Given the description of an element on the screen output the (x, y) to click on. 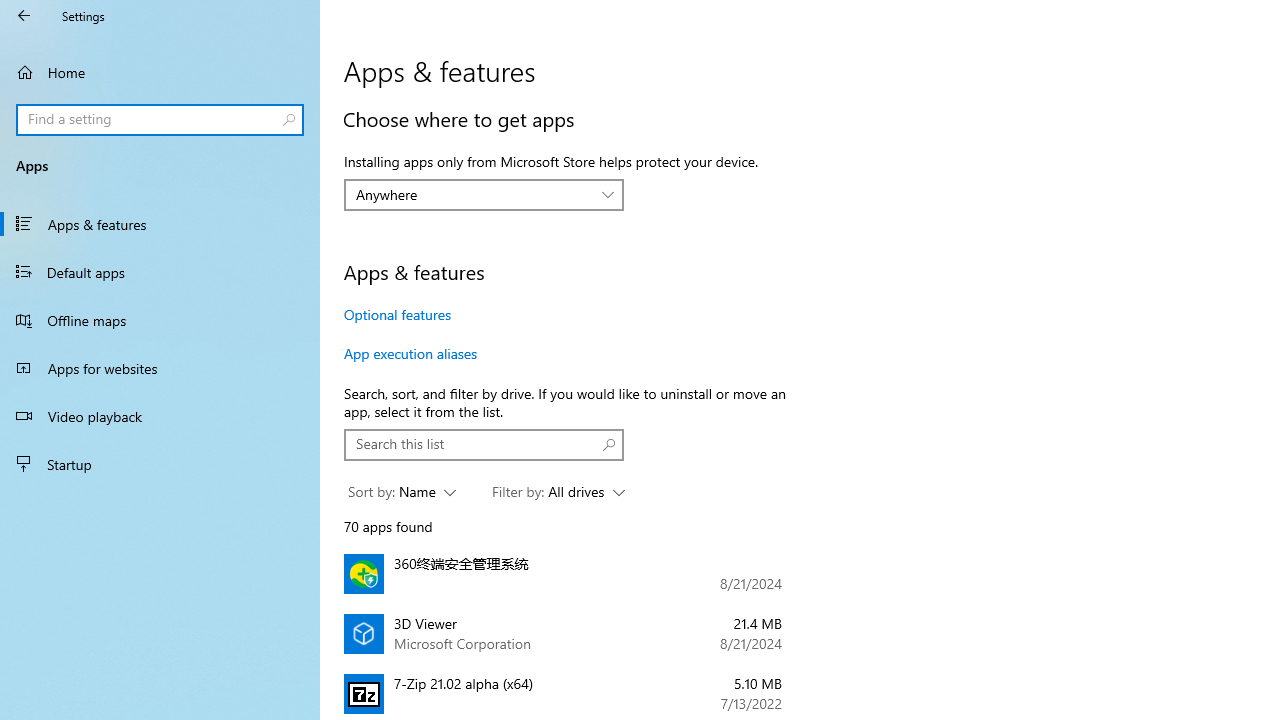
Video playback (160, 415)
Search box, Search this list (484, 444)
Apps & features (160, 223)
Optional features (397, 314)
Apps for websites (160, 367)
Home (160, 71)
Startup (160, 463)
Sort by: Name (401, 492)
Default apps (160, 271)
Back (24, 15)
Filter by: All drives (557, 492)
Offline maps (160, 319)
